Given the description of an element on the screen output the (x, y) to click on. 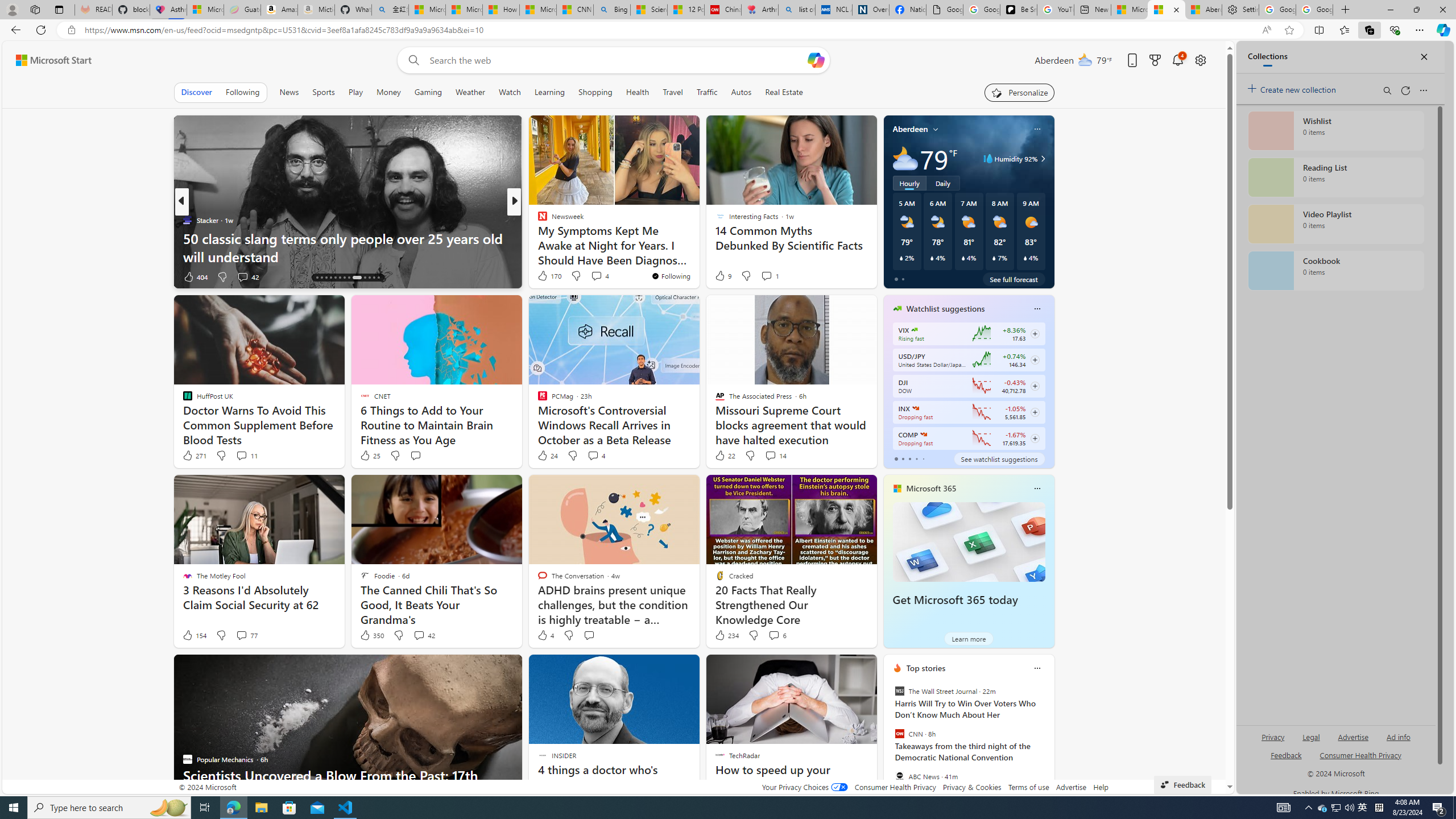
Mostly cloudy (904, 158)
Google Analytics Opt-out Browser Add-on Download Page (944, 9)
tab-4 (923, 458)
